Given the description of an element on the screen output the (x, y) to click on. 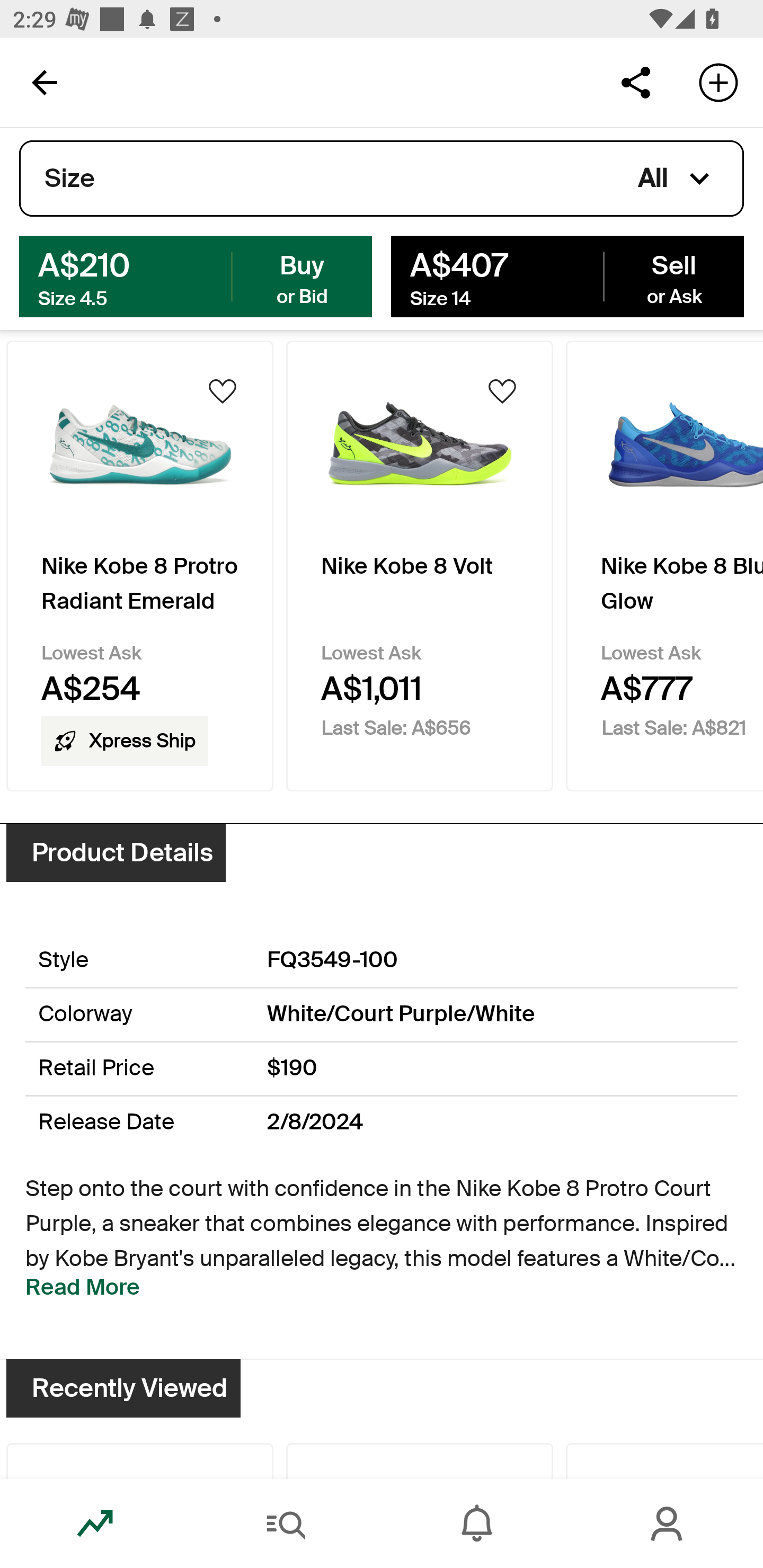
Share (635, 81)
Add (718, 81)
Size All (381, 178)
A$210 Buy Size 4.5 or Bid (195, 275)
A$407 Sell Size 14 or Ask (566, 275)
Read More (82, 1287)
Search (285, 1523)
Inbox (476, 1523)
Account (667, 1523)
